Given the description of an element on the screen output the (x, y) to click on. 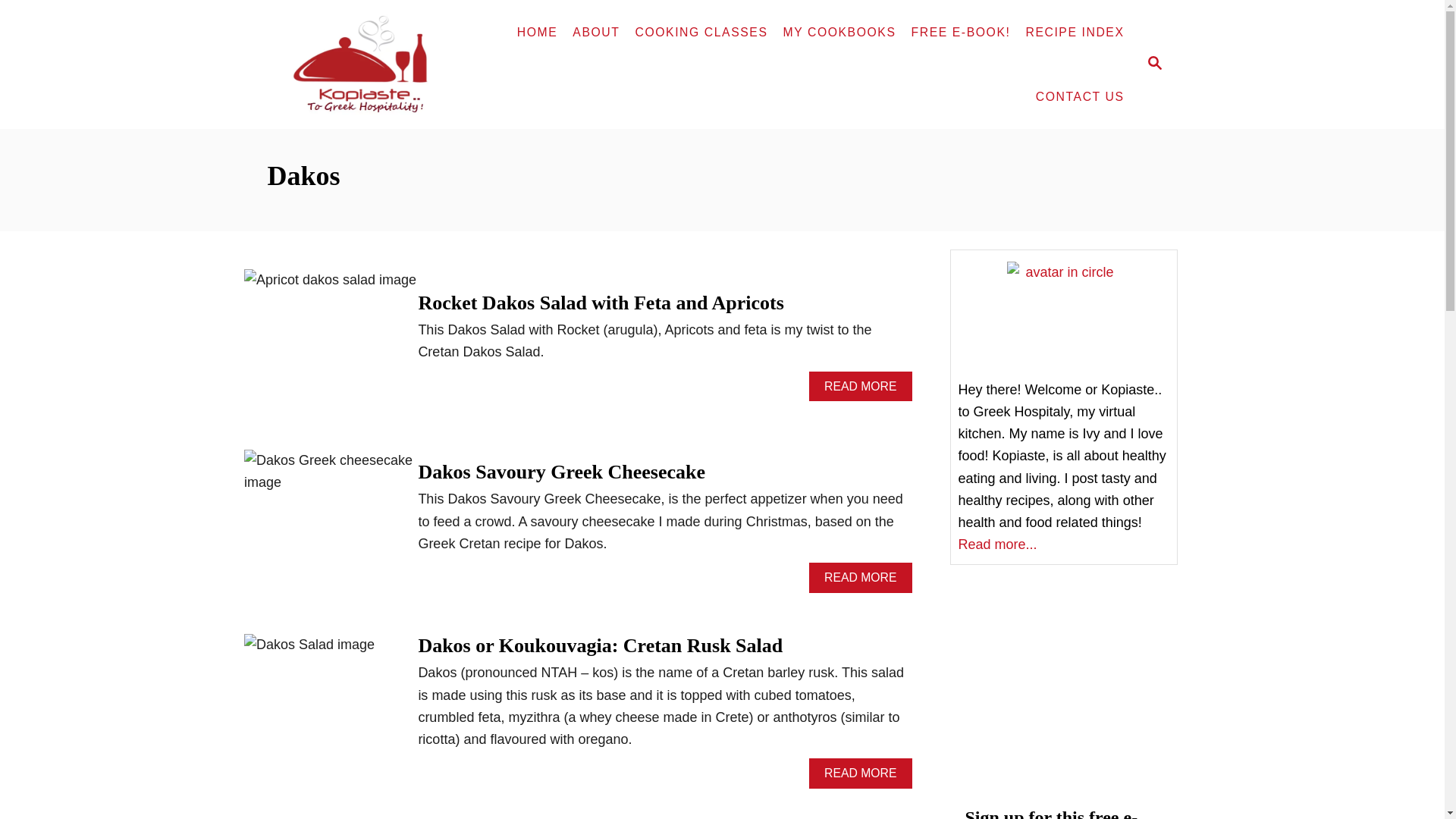
COOKING CLASSES (700, 32)
ABOUT (595, 32)
RECIPE INDEX (1074, 32)
Kopiaste..to Greek Hospitality (370, 64)
Dakos Savoury Greek Cheesecake (560, 472)
Rocket Dakos Salad with Feta and Apricots (335, 344)
HOME (860, 577)
Read more... (537, 32)
FREE E-BOOK! (860, 773)
Dakos or Koukouvagia:  Cretan Rusk Salad (997, 544)
SEARCH (860, 386)
MY COOKBOOKS (960, 32)
